Given the description of an element on the screen output the (x, y) to click on. 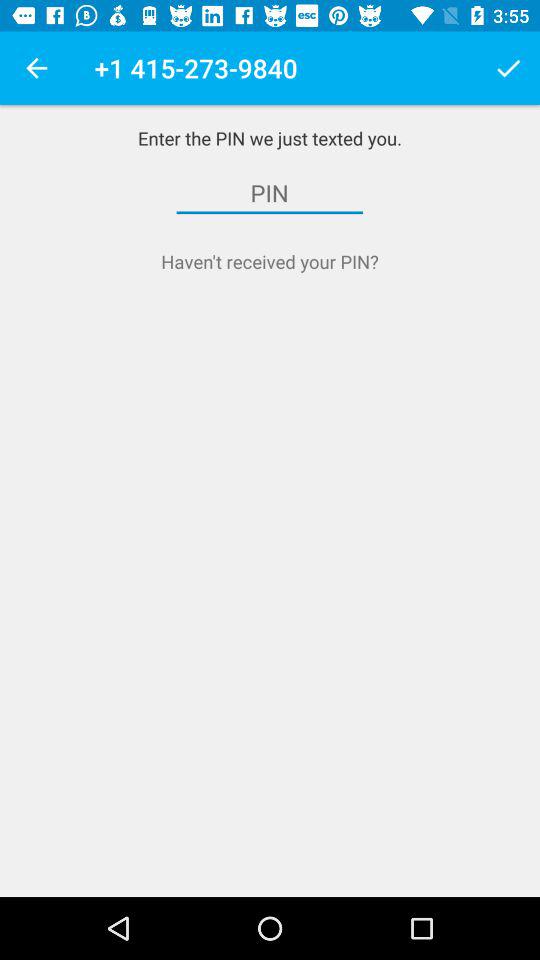
tap the item below enter the pin (269, 193)
